Given the description of an element on the screen output the (x, y) to click on. 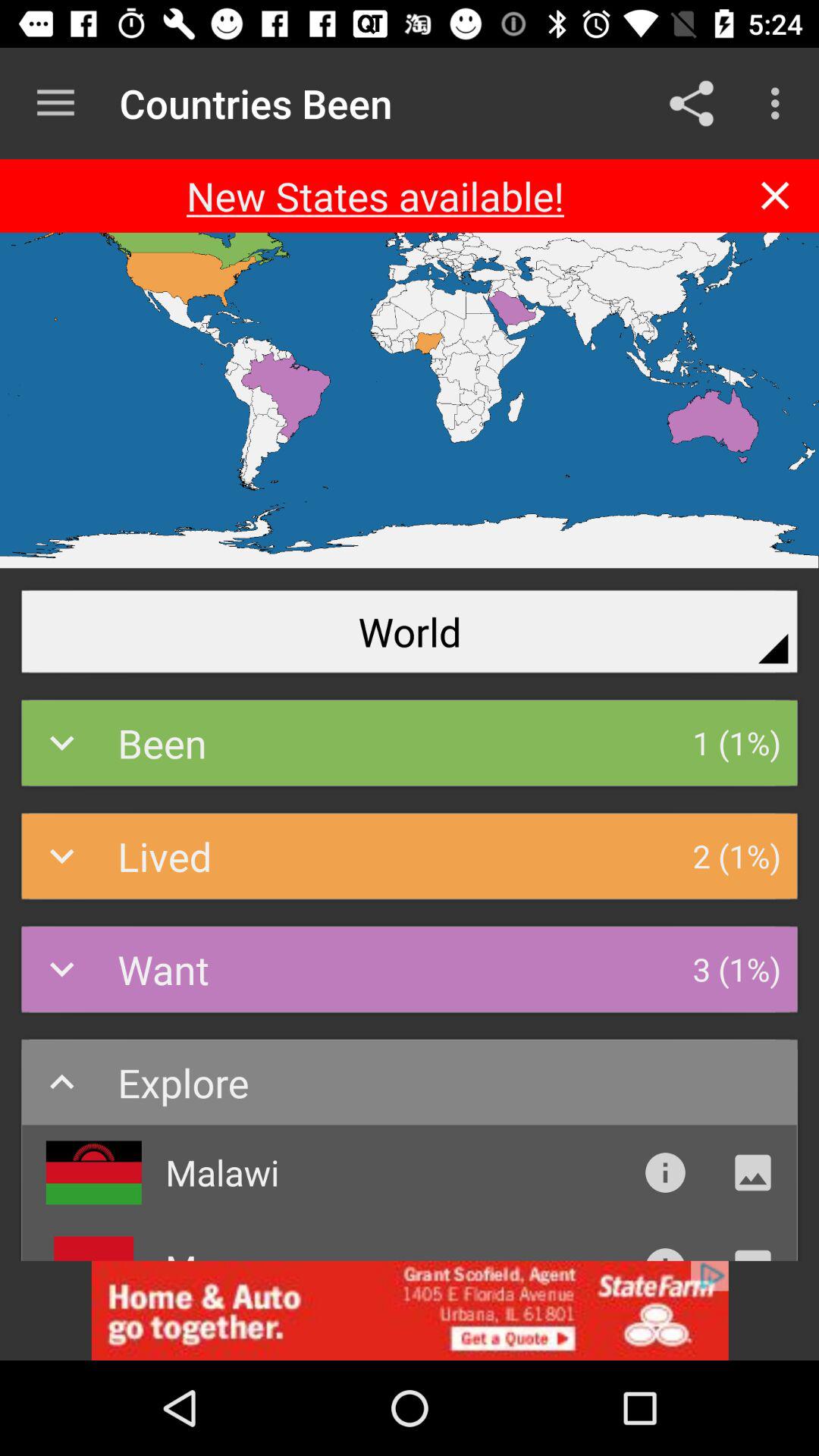
view images (752, 1172)
